Given the description of an element on the screen output the (x, y) to click on. 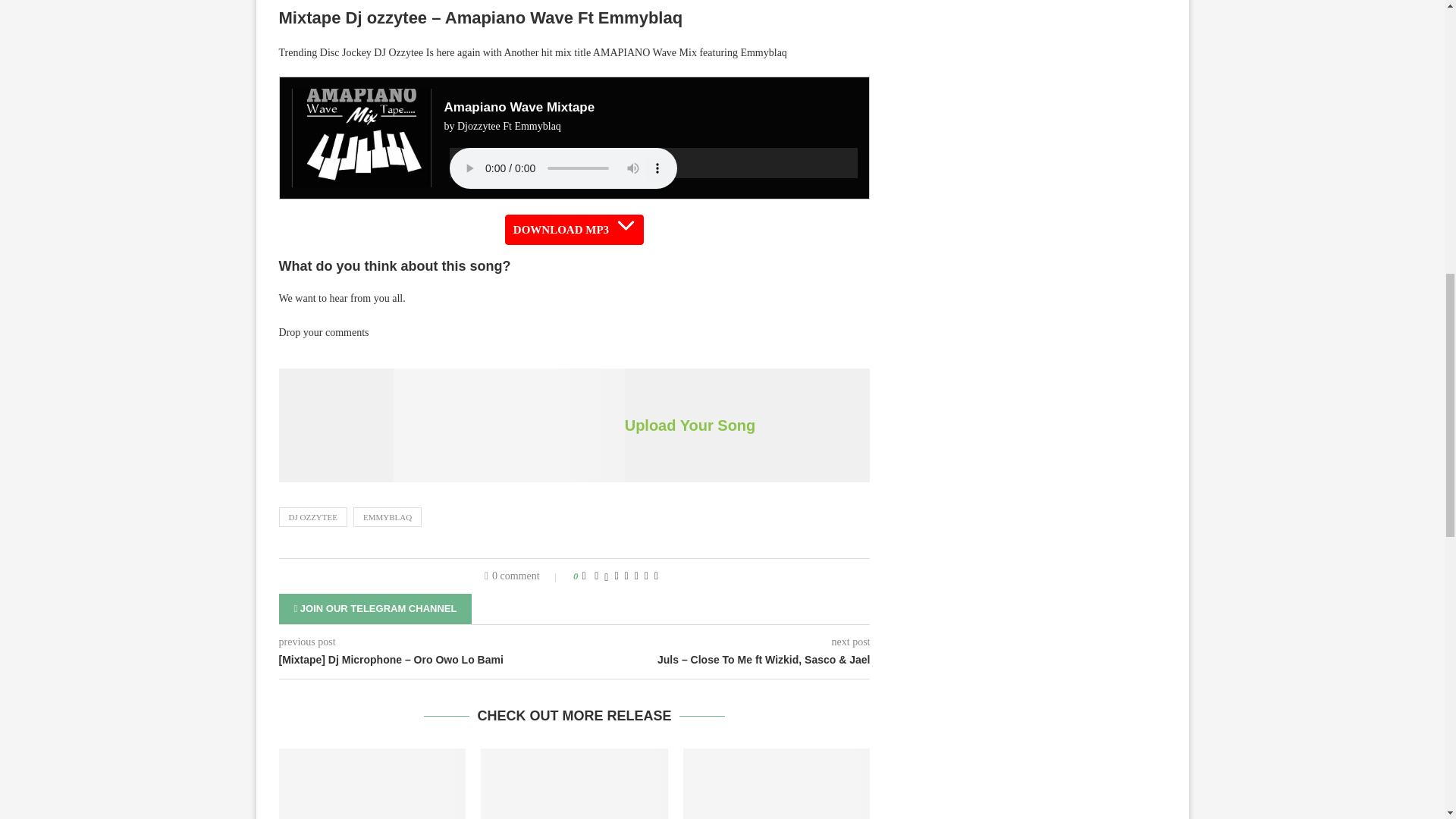
Dj ozzytee - Amapiano Wave Ft Emmyblaq Mixtape - Sweetloaded (508, 425)
